Given the description of an element on the screen output the (x, y) to click on. 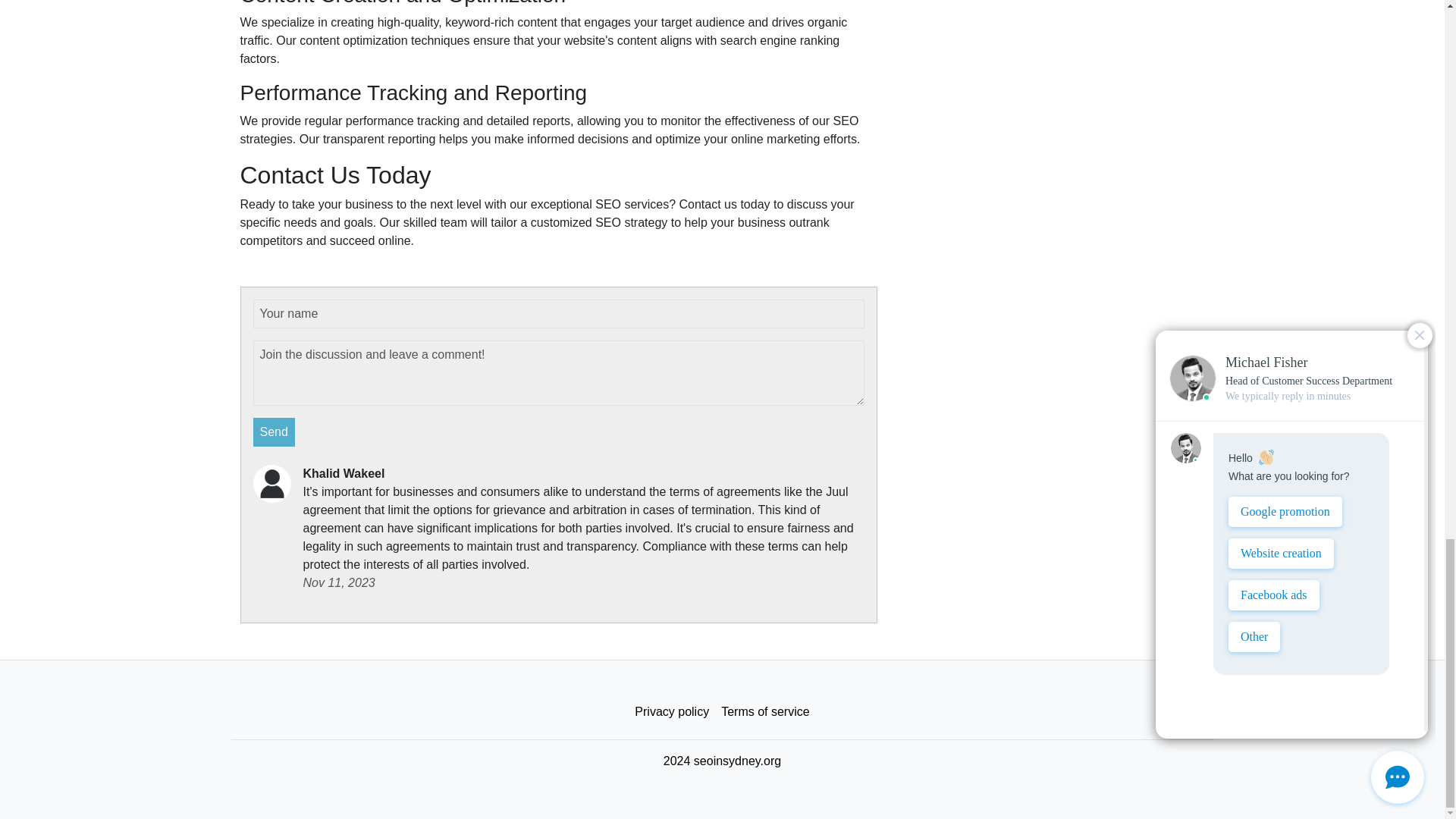
Send (274, 431)
Privacy policy (671, 711)
Send (274, 431)
Terms of service (764, 711)
